Given the description of an element on the screen output the (x, y) to click on. 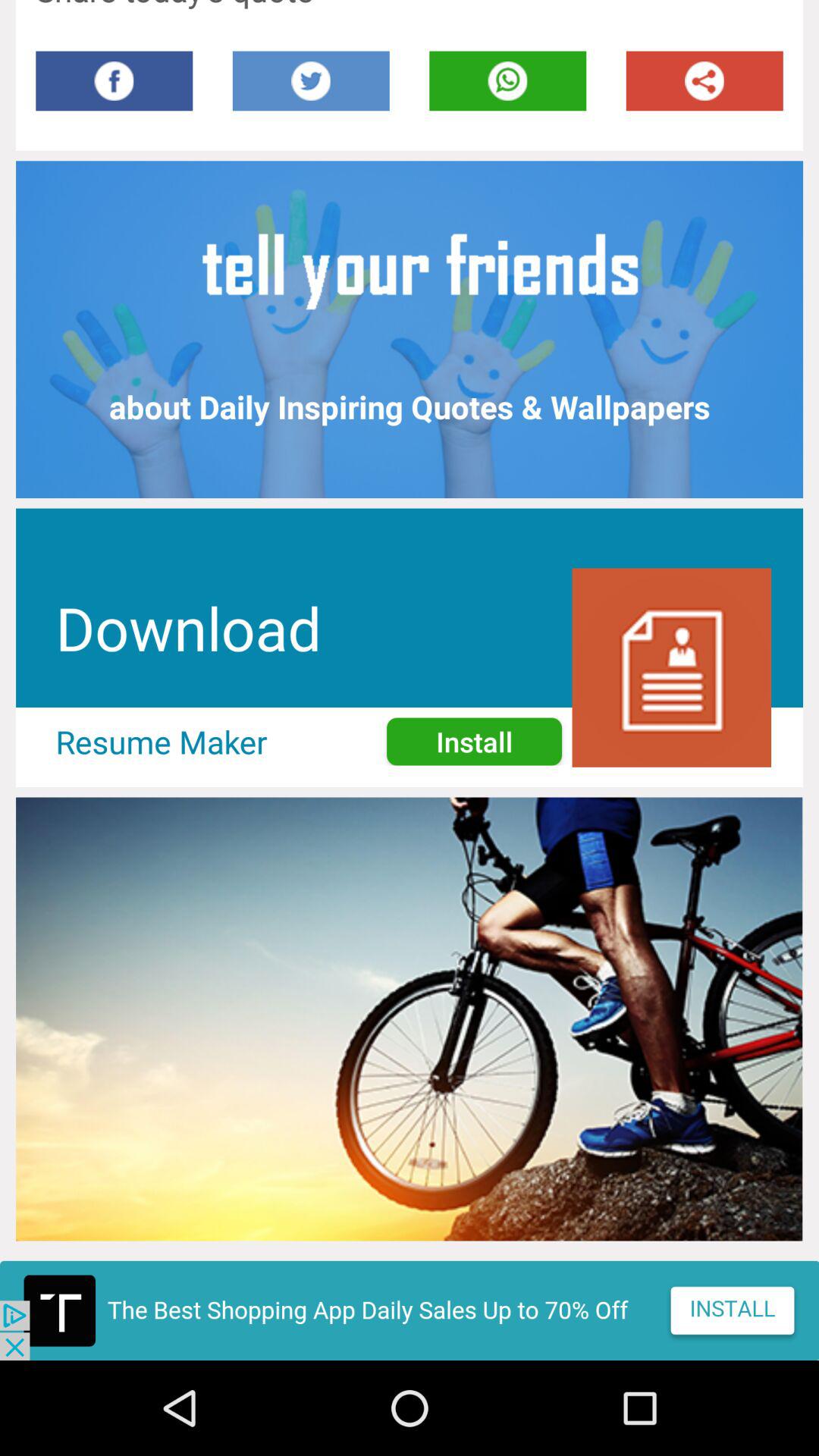
share on whatsapp (507, 80)
